Given the description of an element on the screen output the (x, y) to click on. 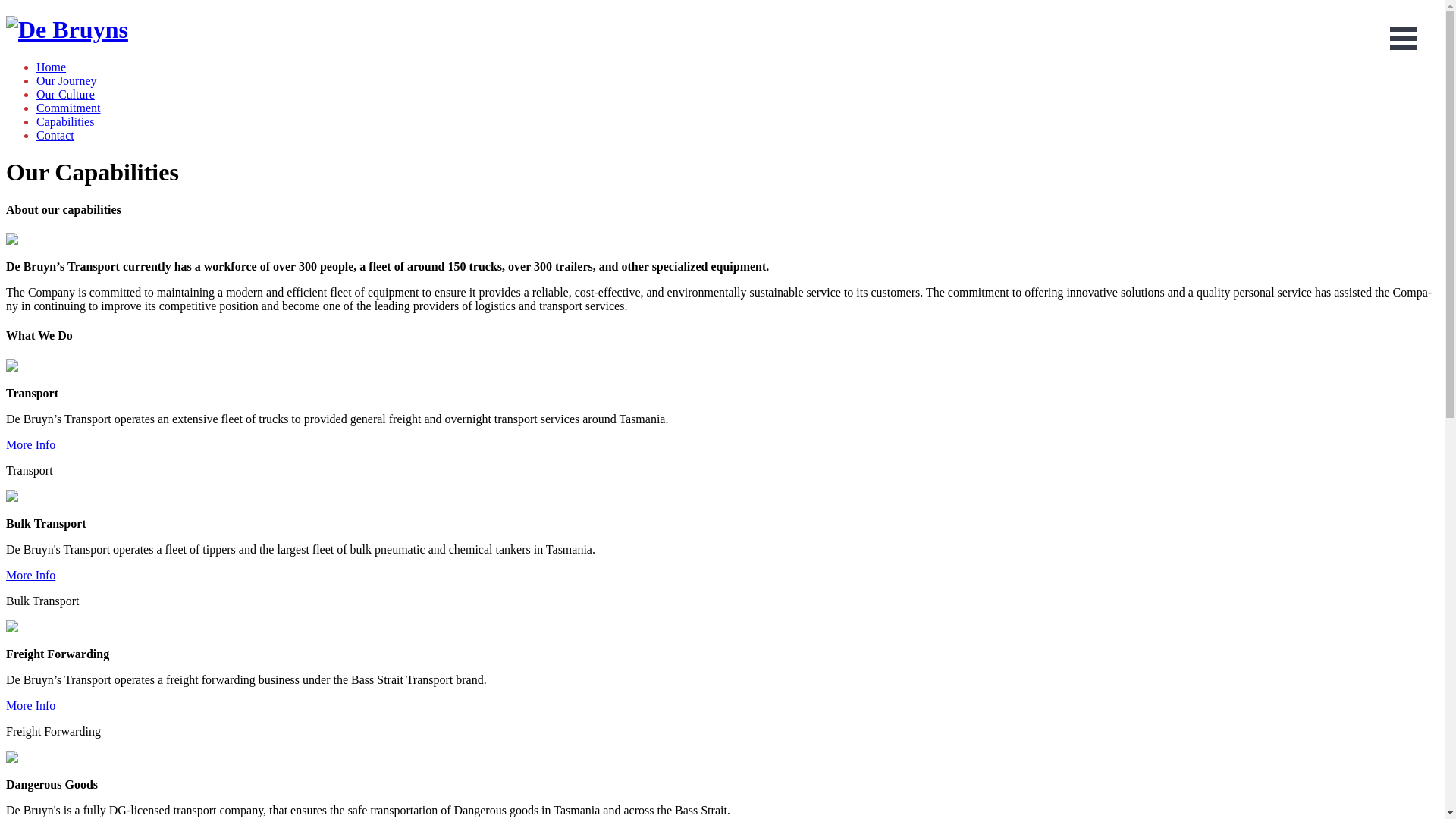
Our Journey Element type: text (66, 80)
More Info Element type: text (30, 444)
Capabilities Element type: text (65, 121)
Commitment Element type: text (68, 107)
Our Culture Element type: text (65, 93)
Home Element type: text (50, 66)
More Info Element type: text (30, 705)
Contact Element type: text (55, 134)
More Info Element type: text (30, 574)
